Given the description of an element on the screen output the (x, y) to click on. 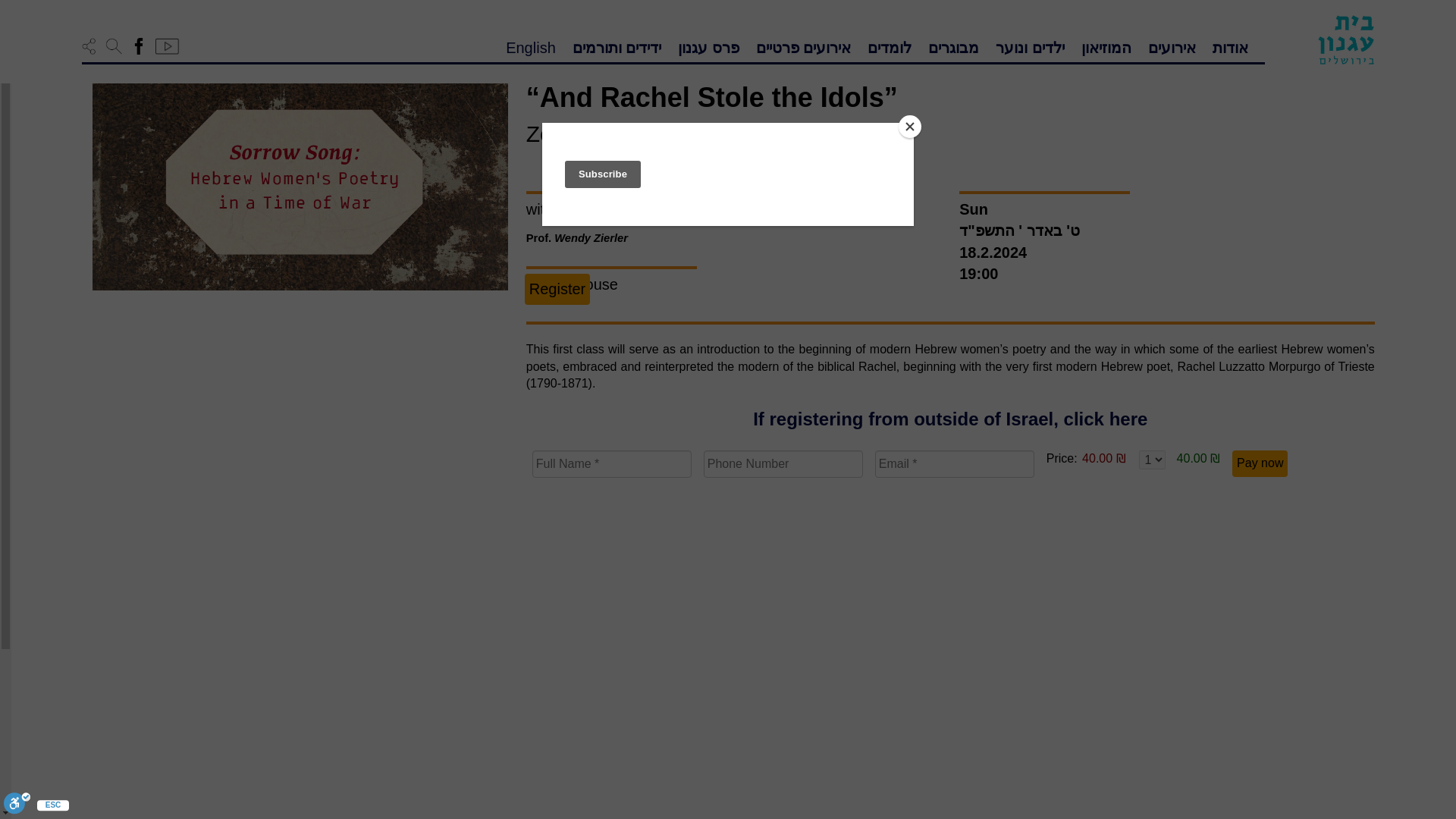
English (530, 46)
Pay now (1259, 463)
